Given the description of an element on the screen output the (x, y) to click on. 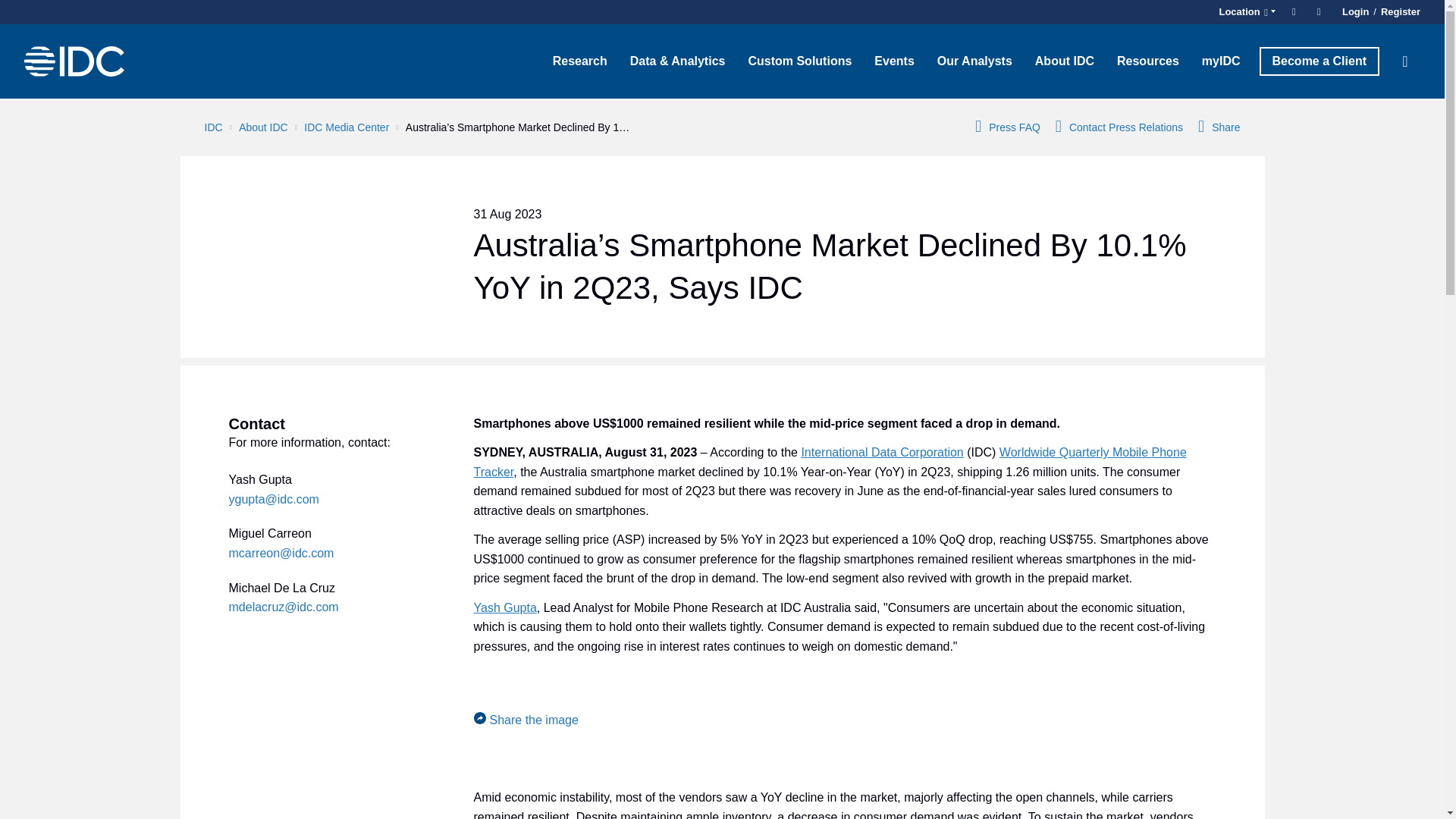
Register (1398, 12)
Search (1405, 61)
Resources (1148, 60)
Research (579, 60)
About IDC (1064, 60)
Custom Solutions (799, 60)
Login (1355, 12)
Contact Press Relations (1118, 127)
Location (1244, 12)
IDC Media Center (346, 127)
